Given the description of an element on the screen output the (x, y) to click on. 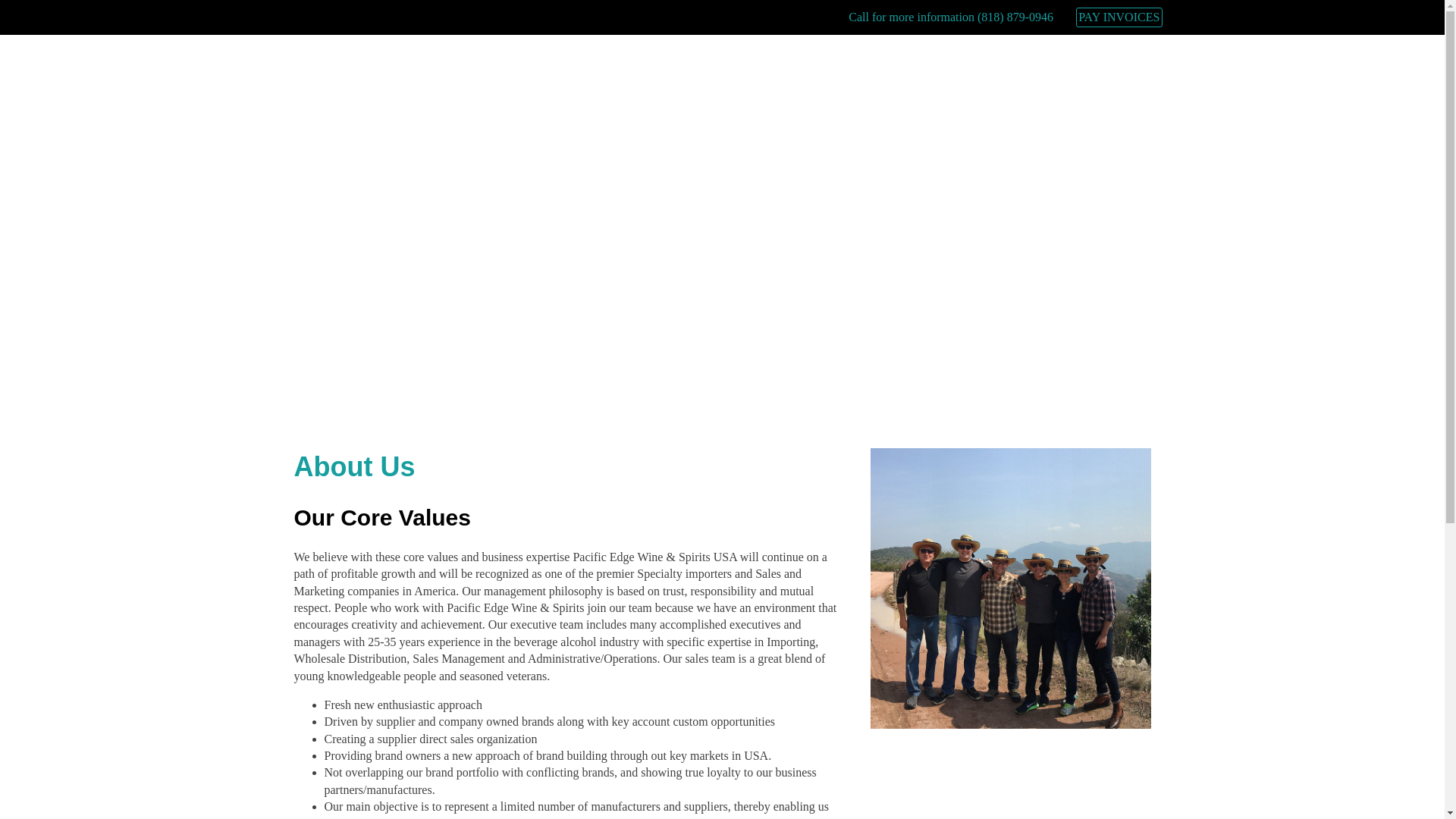
PAY INVOICES (1118, 17)
